Given the description of an element on the screen output the (x, y) to click on. 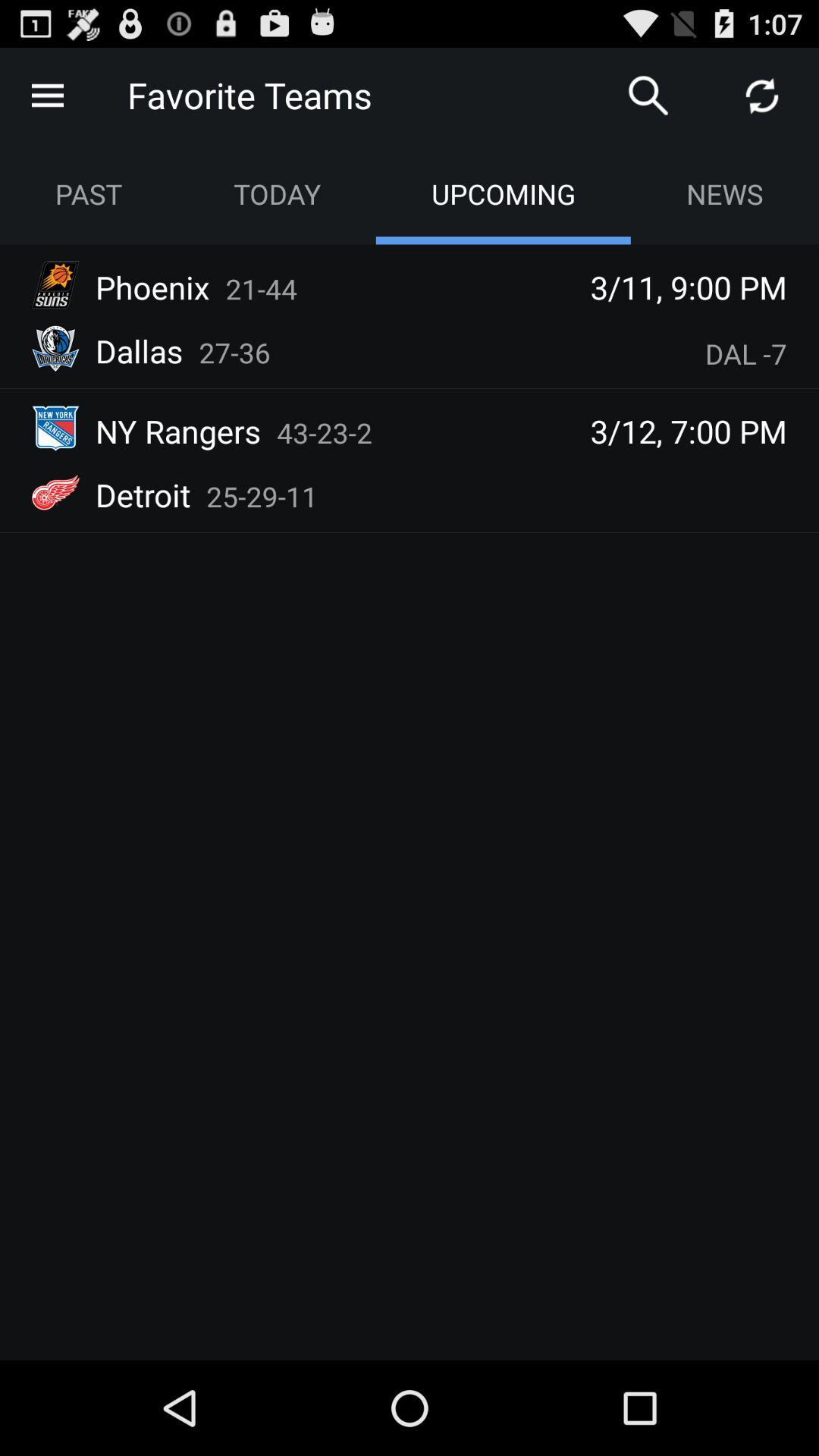
refresh (762, 95)
